Given the description of an element on the screen output the (x, y) to click on. 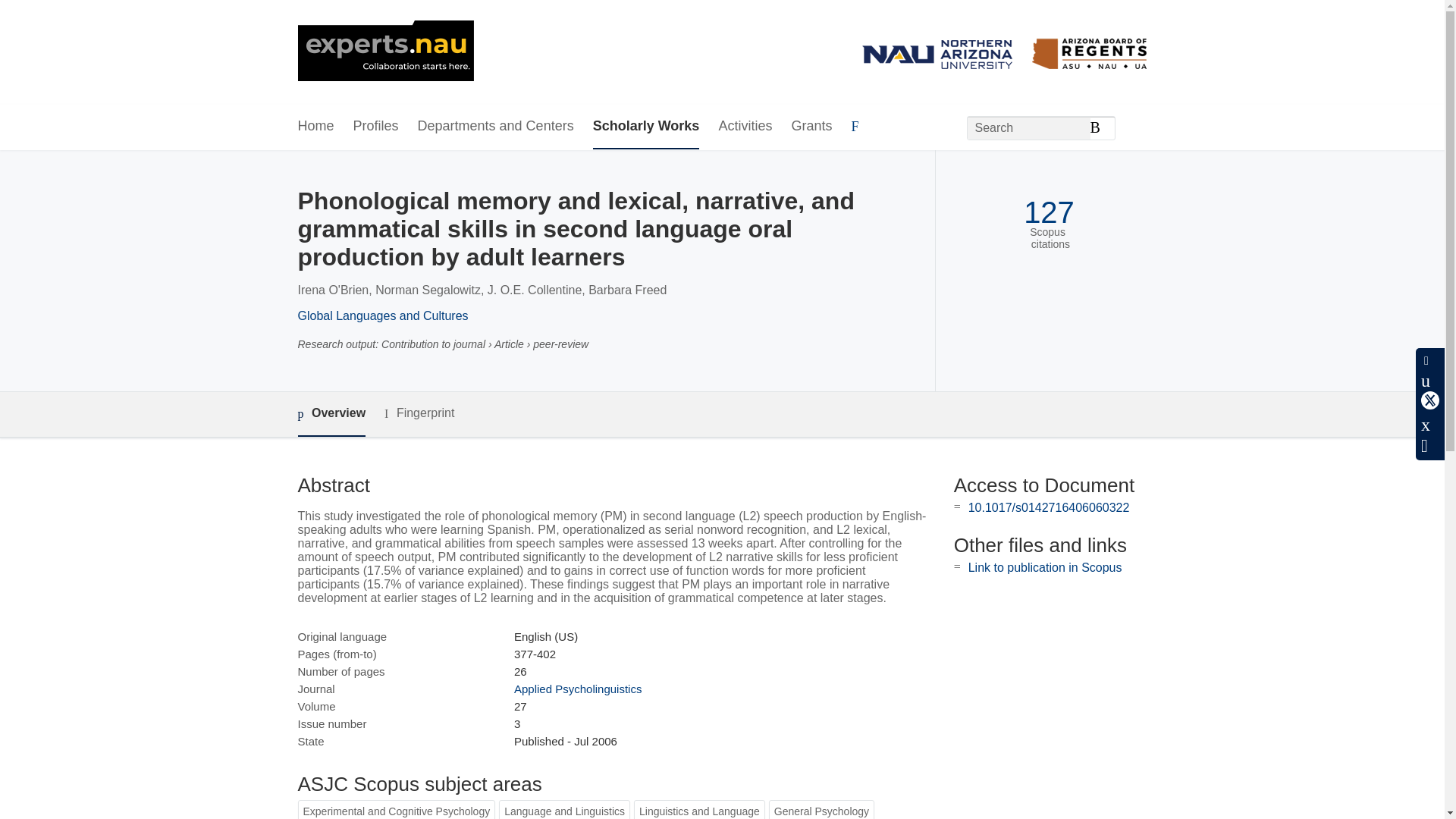
Profiles (375, 126)
Applied Psycholinguistics (577, 688)
Fingerprint (419, 413)
Activities (744, 126)
Global Languages and Cultures (382, 315)
Grants (810, 126)
Scholarly Works (646, 126)
Northern Arizona University Home (385, 52)
Departments and Centers (495, 126)
127 (1048, 212)
Link to publication in Scopus (1045, 567)
Overview (331, 414)
